Given the description of an element on the screen output the (x, y) to click on. 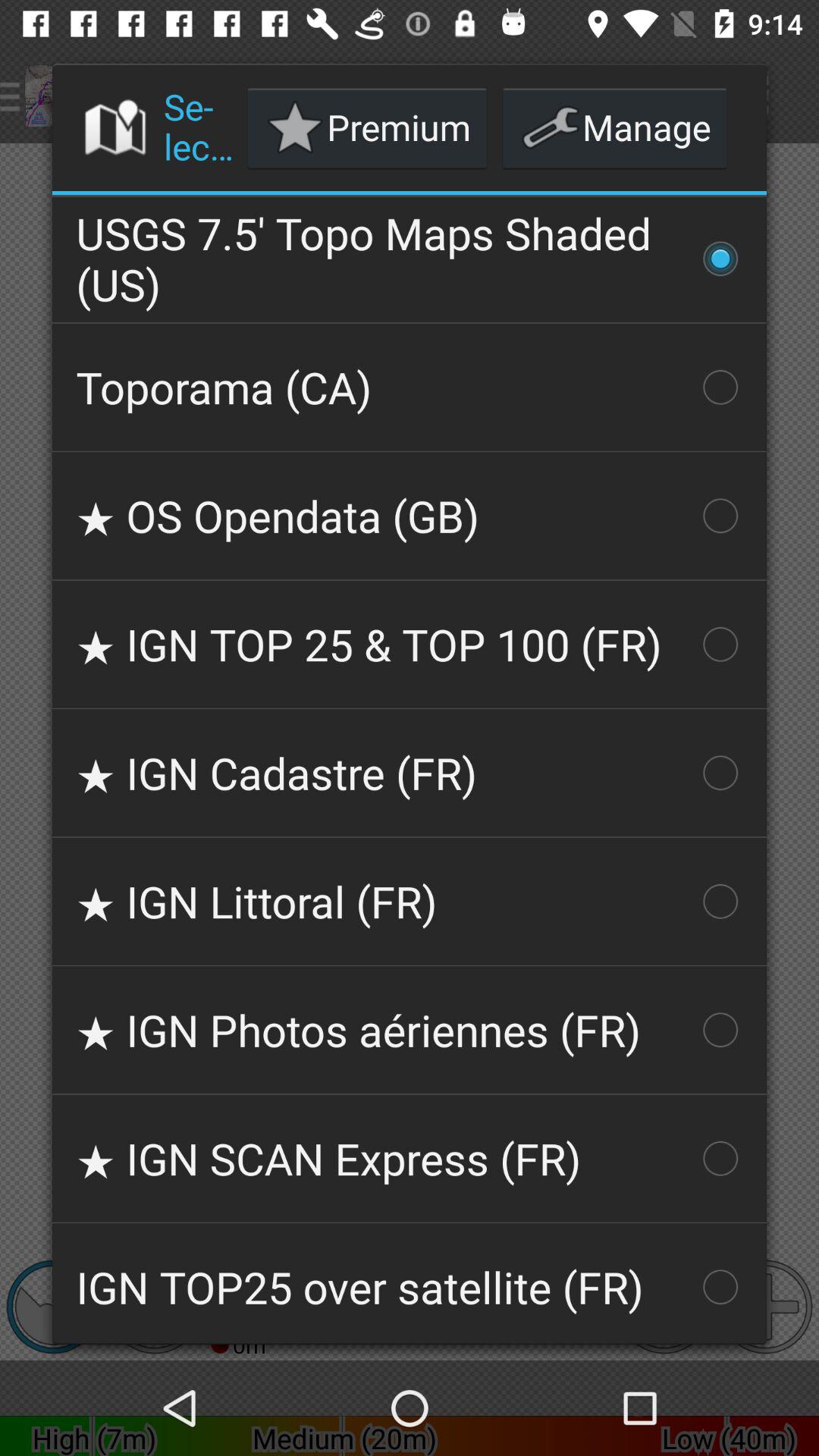
select premium icon (366, 127)
